Given the description of an element on the screen output the (x, y) to click on. 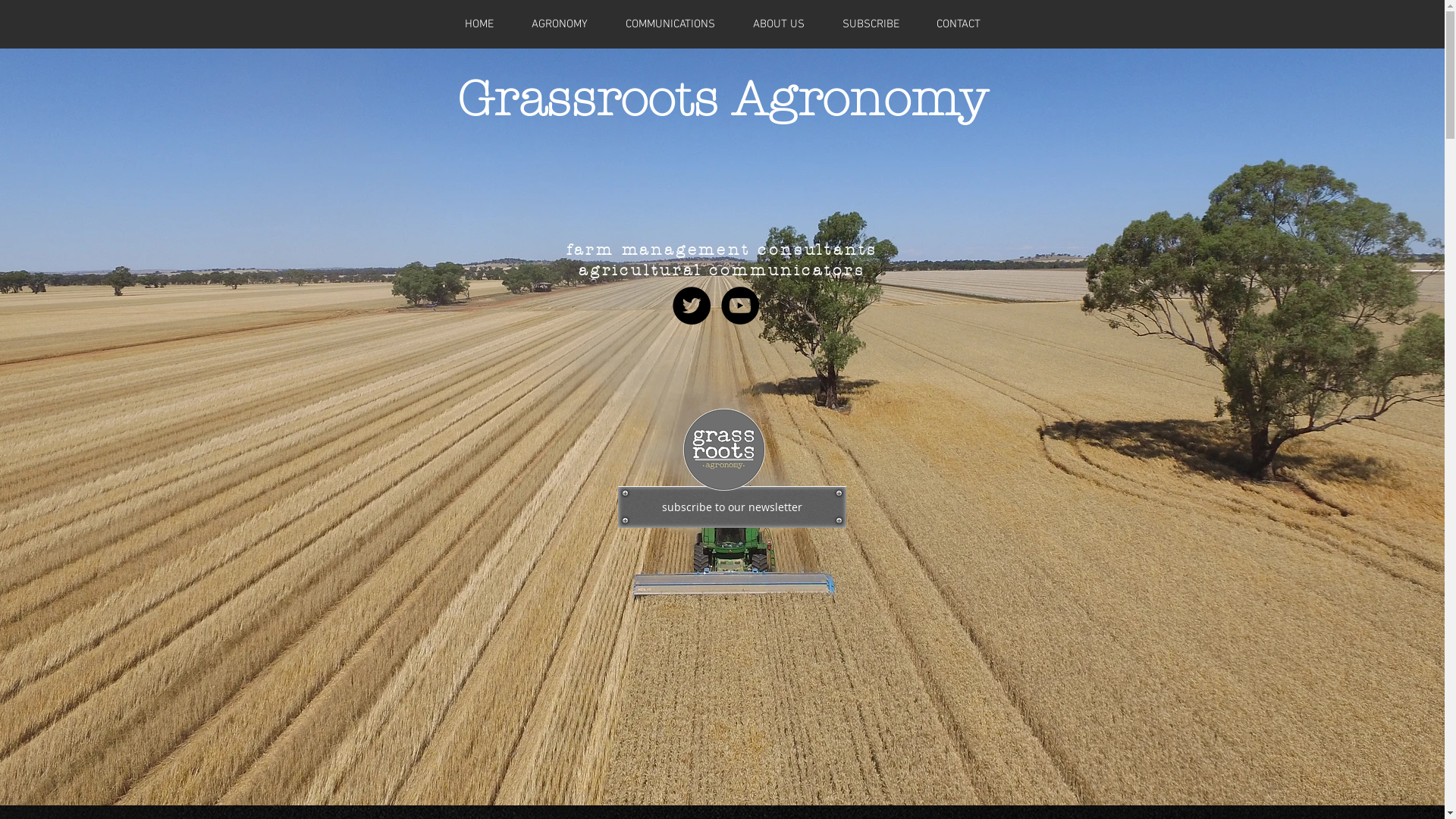
AGRONOMY Element type: text (559, 24)
GRA round.png Element type: hover (723, 449)
Grassroots Agronomy Element type: text (721, 98)
CONTACT Element type: text (957, 24)
COMMUNICATIONS Element type: text (670, 24)
SUBSCRIBE Element type: text (870, 24)
ABOUT US Element type: text (778, 24)
HOME Element type: text (478, 24)
subscribe to our newsletter Element type: text (731, 506)
